Given the description of an element on the screen output the (x, y) to click on. 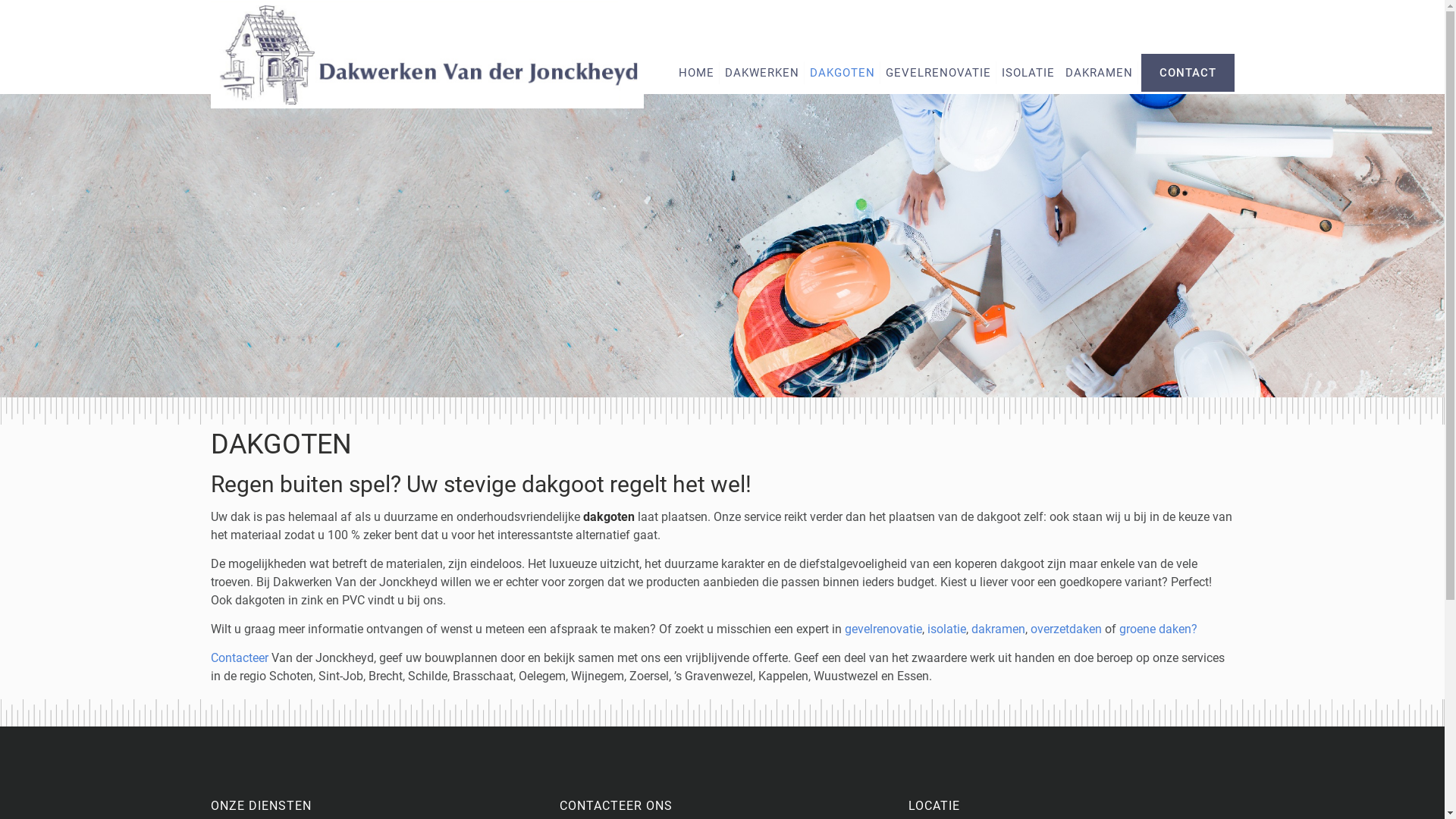
Contacteer Element type: text (239, 657)
n? Element type: text (1190, 628)
isolatie Element type: text (945, 628)
gevelrenovatie Element type: text (883, 628)
ISOLATIE Element type: text (1027, 72)
DAKRAMEN Element type: text (1098, 72)
overzetdaken Element type: text (1065, 628)
GEVELRENOVATIE Element type: text (938, 72)
CONTACT Element type: text (1186, 72)
HOME Element type: text (695, 72)
DAKGOTEN Element type: text (842, 72)
DAKWERKEN Element type: text (761, 72)
dakramen Element type: text (997, 628)
groene dake Element type: text (1151, 628)
